Given the description of an element on the screen output the (x, y) to click on. 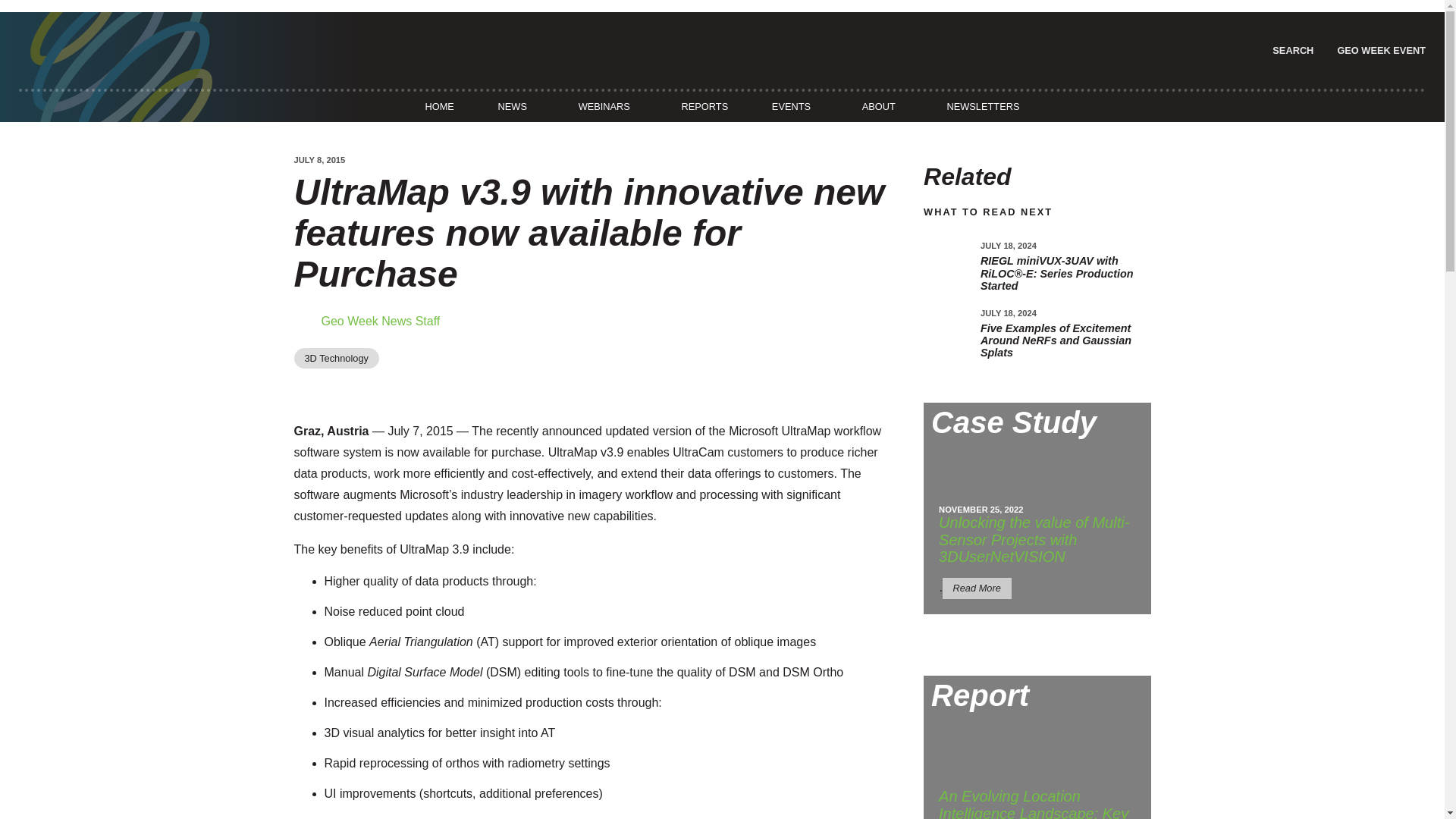
Geo Week (1378, 50)
GEO WEEK EVENT (1378, 50)
SEARCH (1290, 50)
HOME (439, 106)
NEWS (512, 106)
WEBINARS (604, 106)
